Given the description of an element on the screen output the (x, y) to click on. 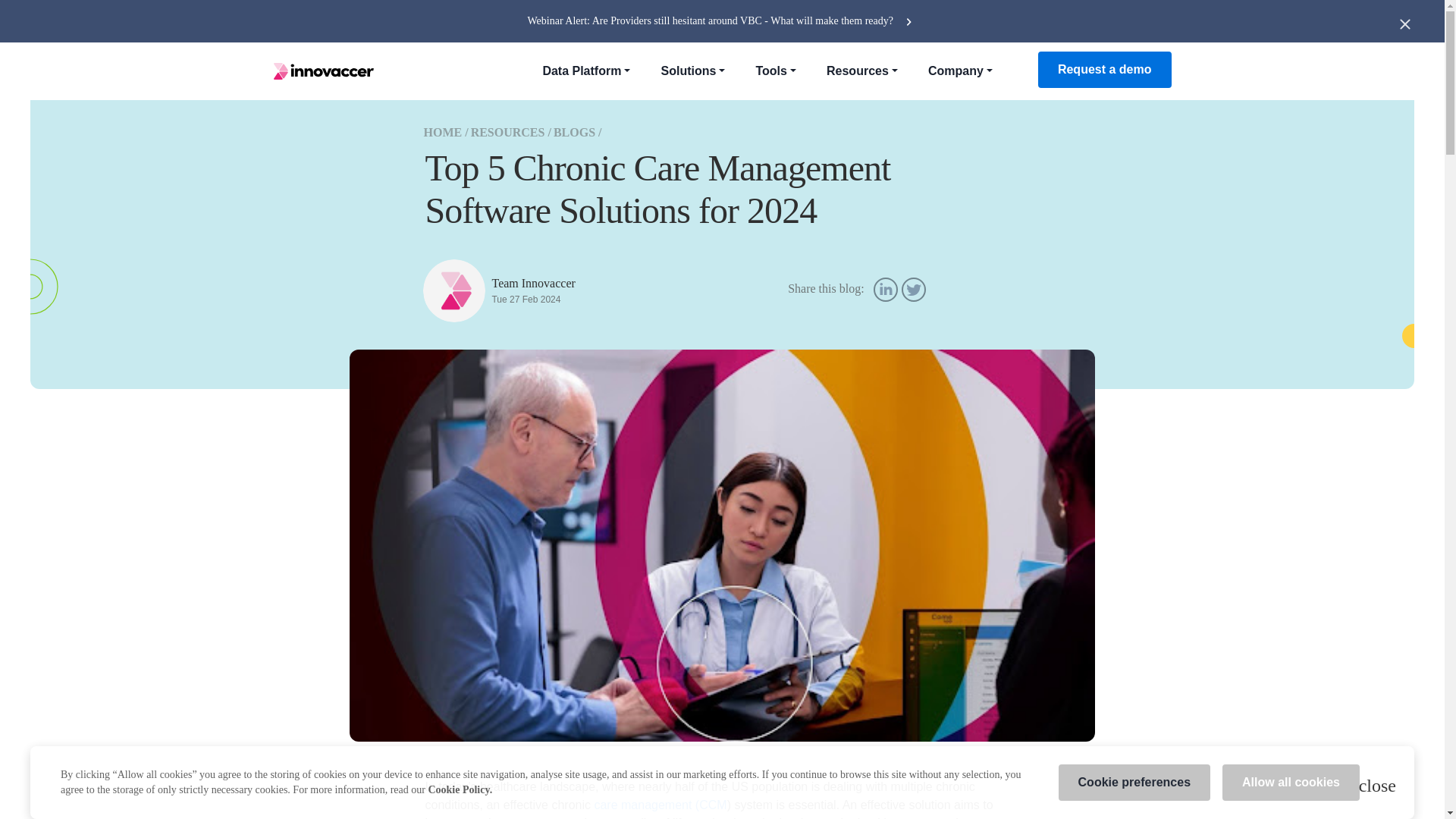
Tools (774, 70)
Resources (861, 70)
Solutions (692, 70)
Data Platform (586, 70)
